Given the description of an element on the screen output the (x, y) to click on. 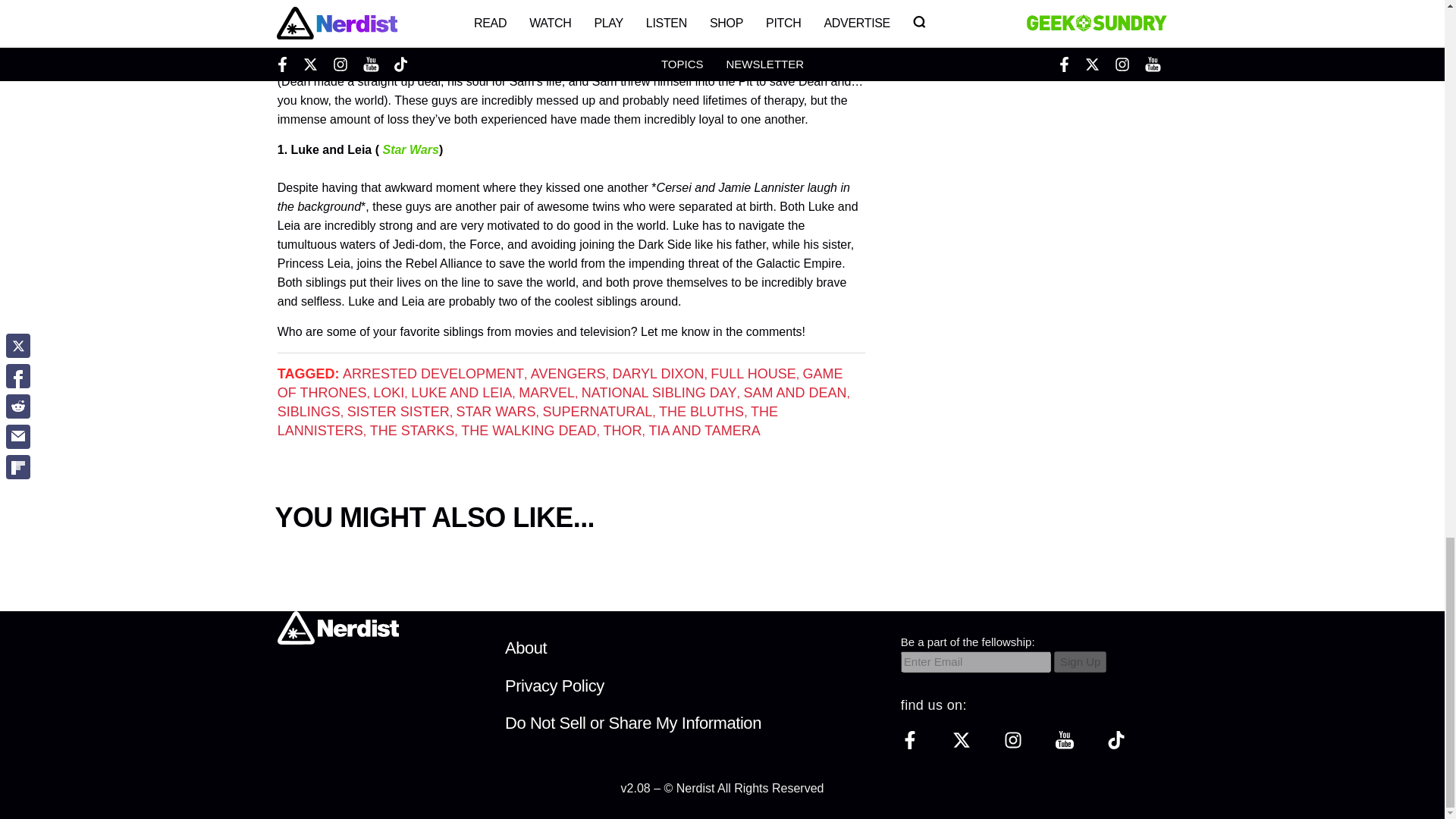
Sign Up (1080, 662)
FULL HOUSE (752, 373)
DARYL DIXON (657, 373)
ARRESTED DEVELOPMENT (433, 373)
NATIONAL SIBLING DAY (658, 392)
GAME OF THRONES (560, 383)
Star Wars (409, 149)
LOKI (388, 392)
SAM AND DEAN (793, 392)
AVENGERS (568, 373)
LUKE AND LEIA (461, 392)
MARVEL (546, 392)
SIBLINGS (309, 411)
